Given the description of an element on the screen output the (x, y) to click on. 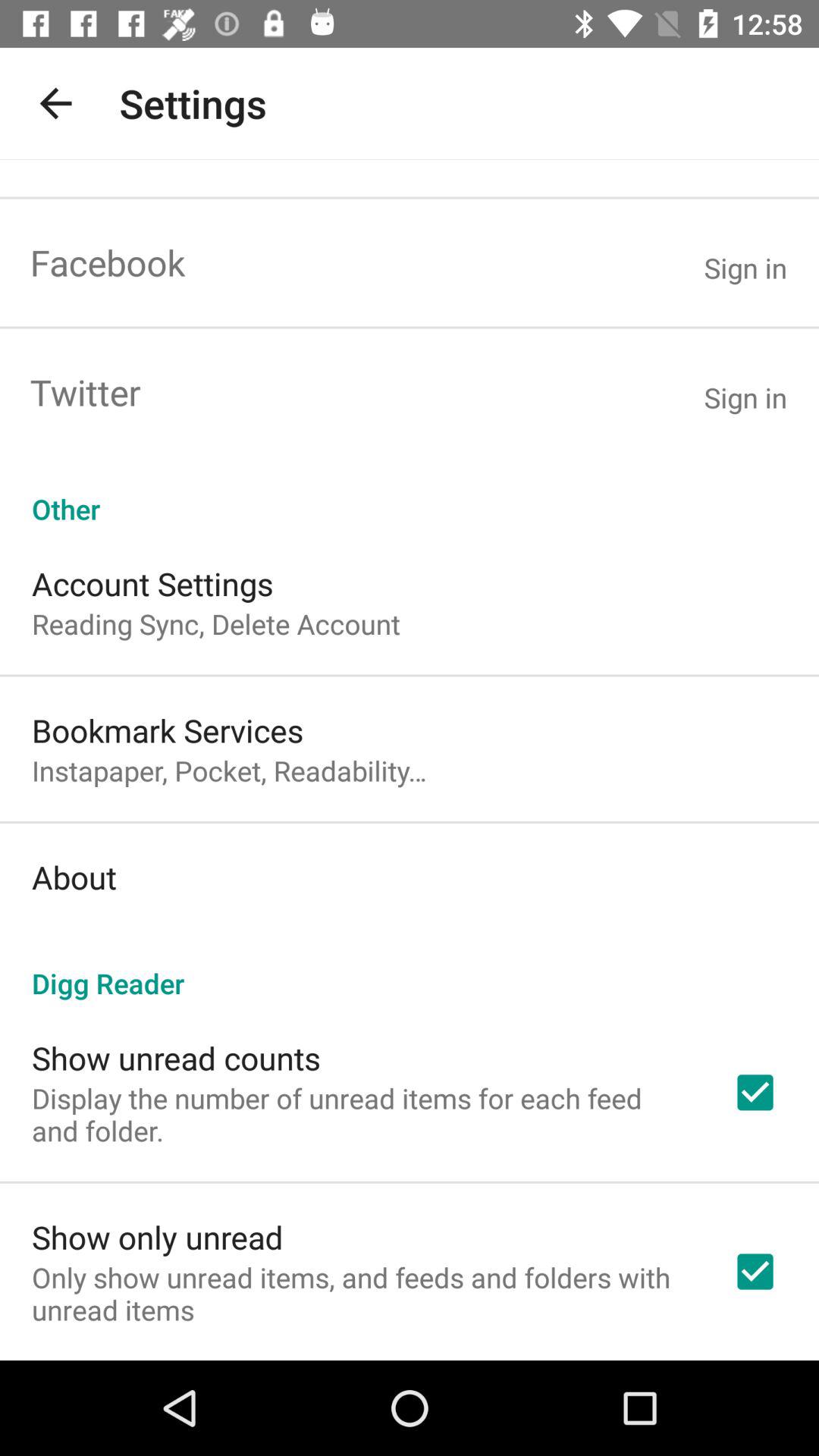
open item to the left of the sign in app (107, 262)
